Given the description of an element on the screen output the (x, y) to click on. 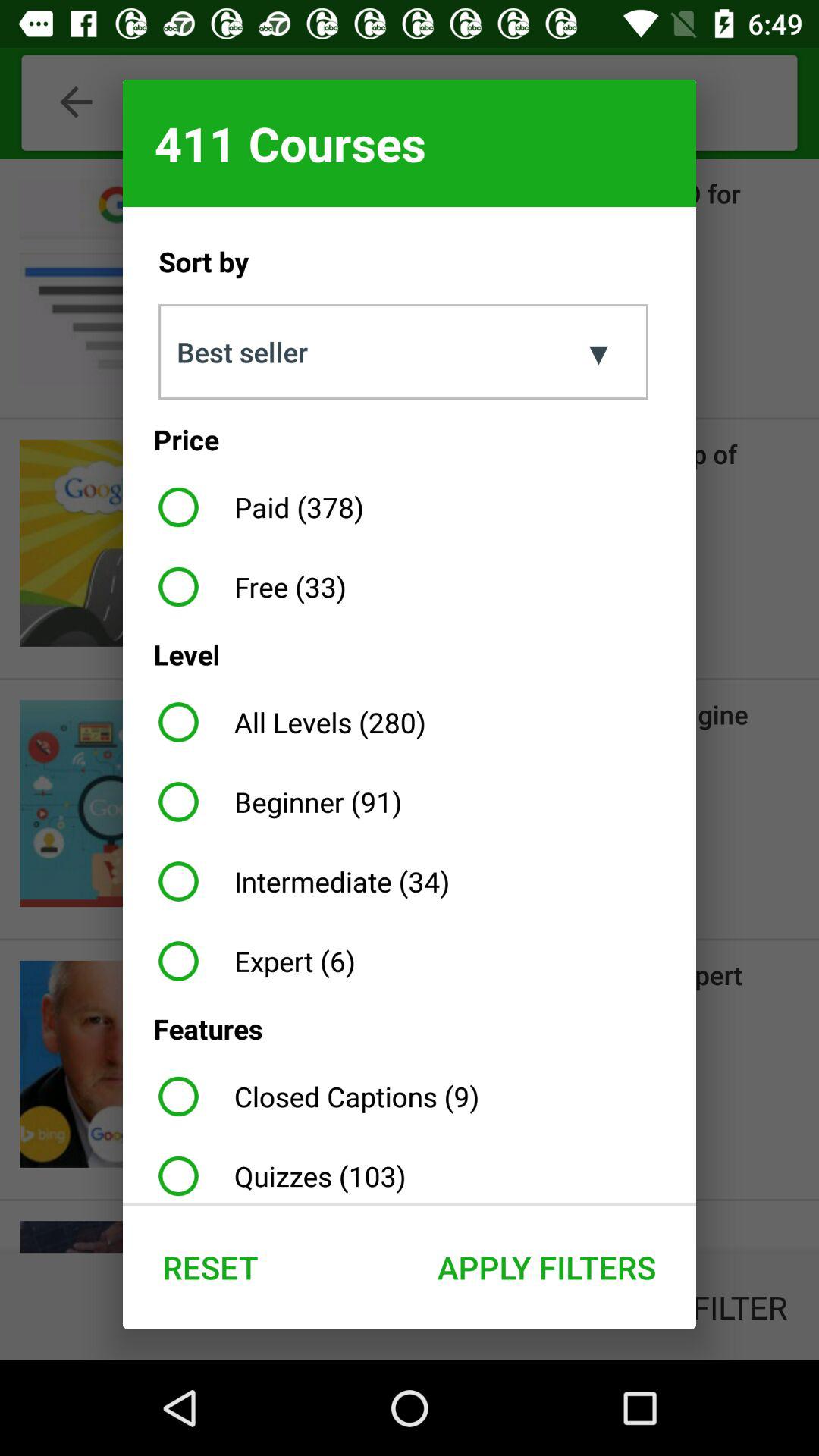
open item below 411 courses (594, 351)
